Given the description of an element on the screen output the (x, y) to click on. 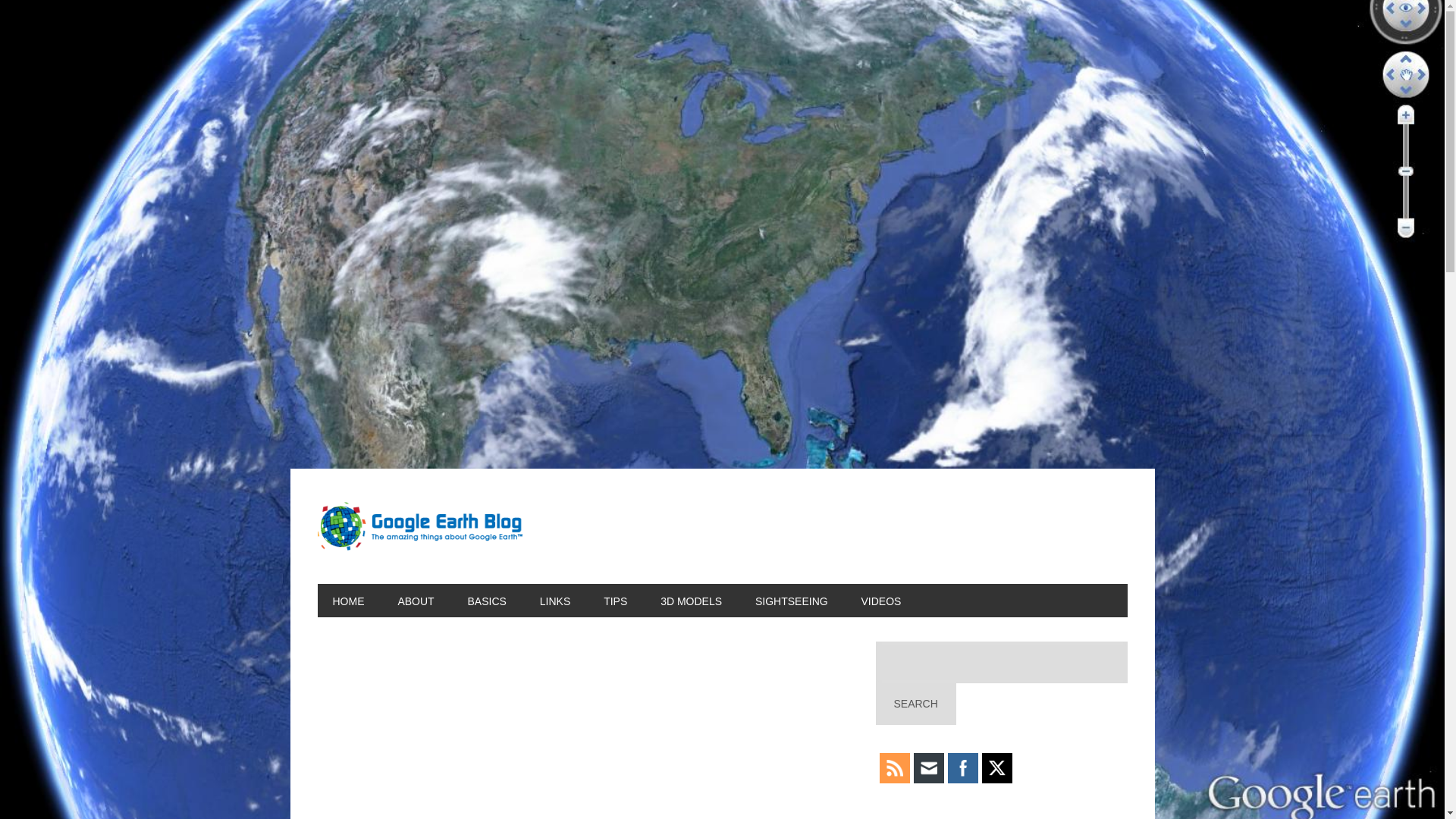
LINKS (554, 600)
BASICS (486, 600)
SIGHTSEEING (791, 600)
GOOGLE EARTH BLOG (419, 526)
Facebook (962, 768)
Follow by Email (928, 768)
Search (915, 703)
ABOUT (414, 600)
Search (915, 703)
Twitter (997, 767)
3D MODELS (690, 600)
VIDEOS (881, 600)
Advertisement (582, 730)
TIPS (615, 600)
